Given the description of an element on the screen output the (x, y) to click on. 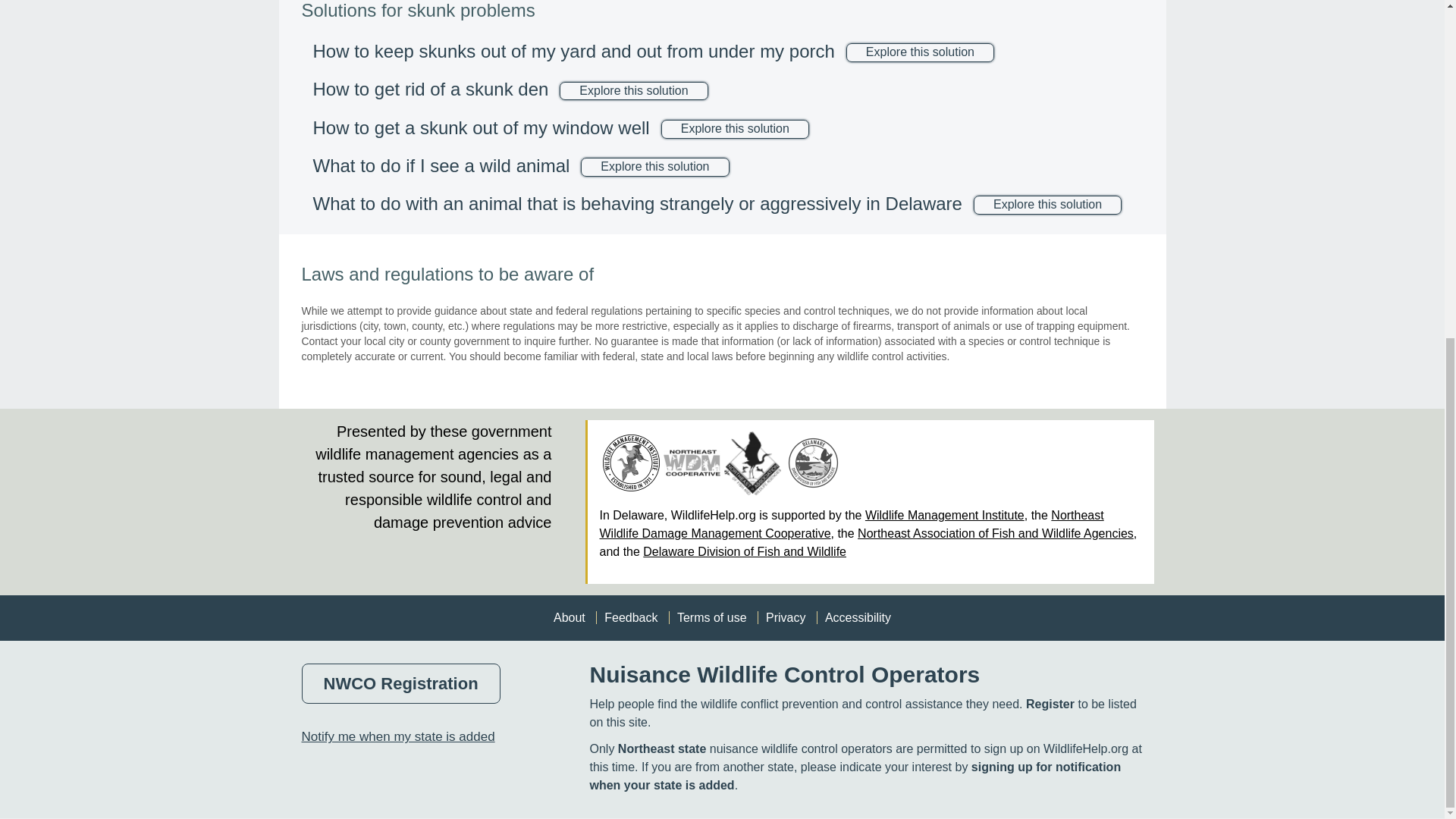
Northeast Association of Fish and Wildlife Agencies (751, 463)
Northeast Wildlife Damage Management Cooperative (691, 462)
